Given the description of an element on the screen output the (x, y) to click on. 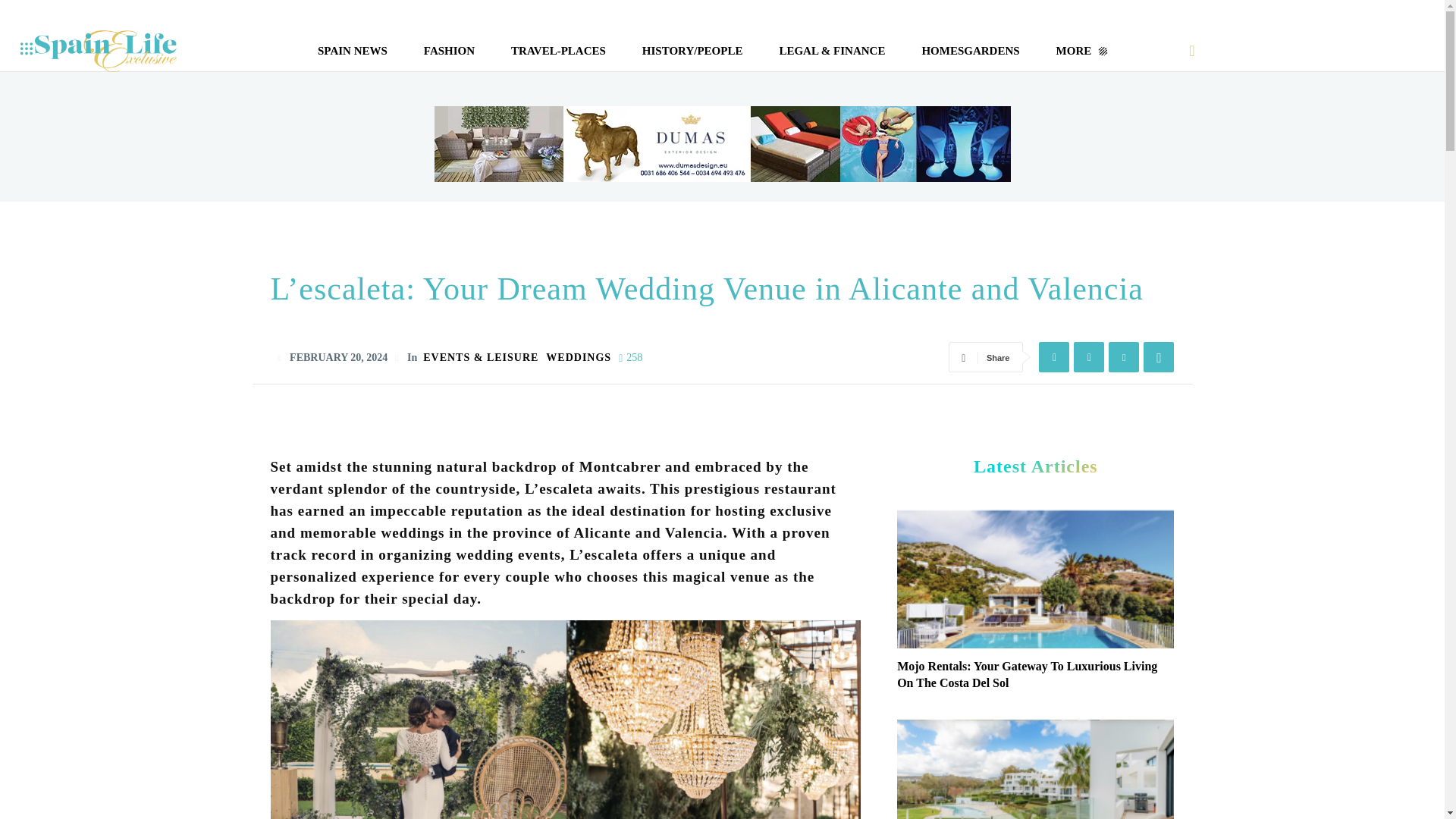
Facebook (1053, 357)
TRAVEL-PLACES (557, 50)
Twitter (1088, 357)
WhatsApp (1157, 357)
FASHION (448, 50)
SPAIN NEWS (352, 50)
HOMESGARDENS (970, 50)
Pinterest (1123, 357)
